Given the description of an element on the screen output the (x, y) to click on. 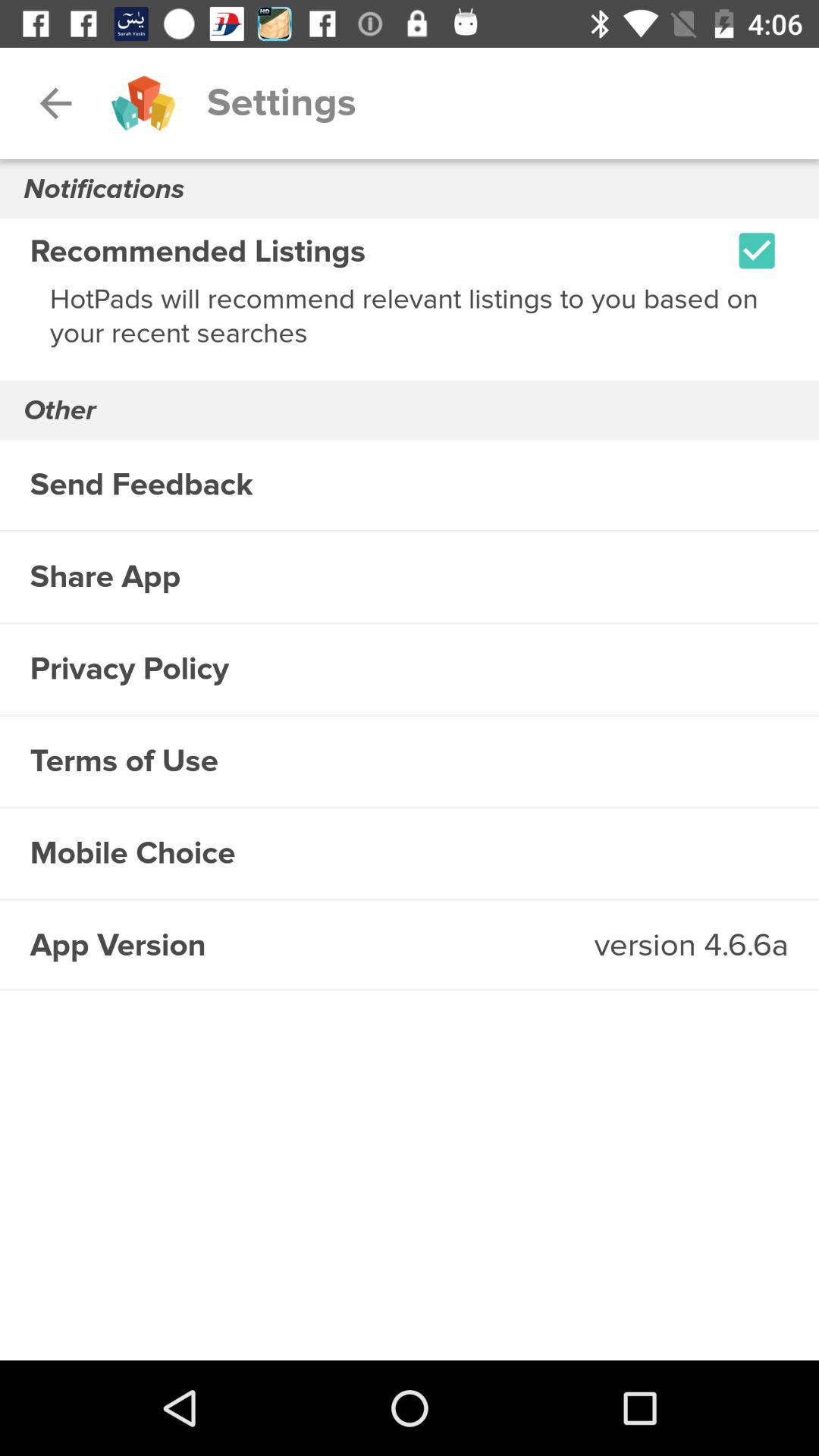
choose icon at the top right corner (756, 250)
